Given the description of an element on the screen output the (x, y) to click on. 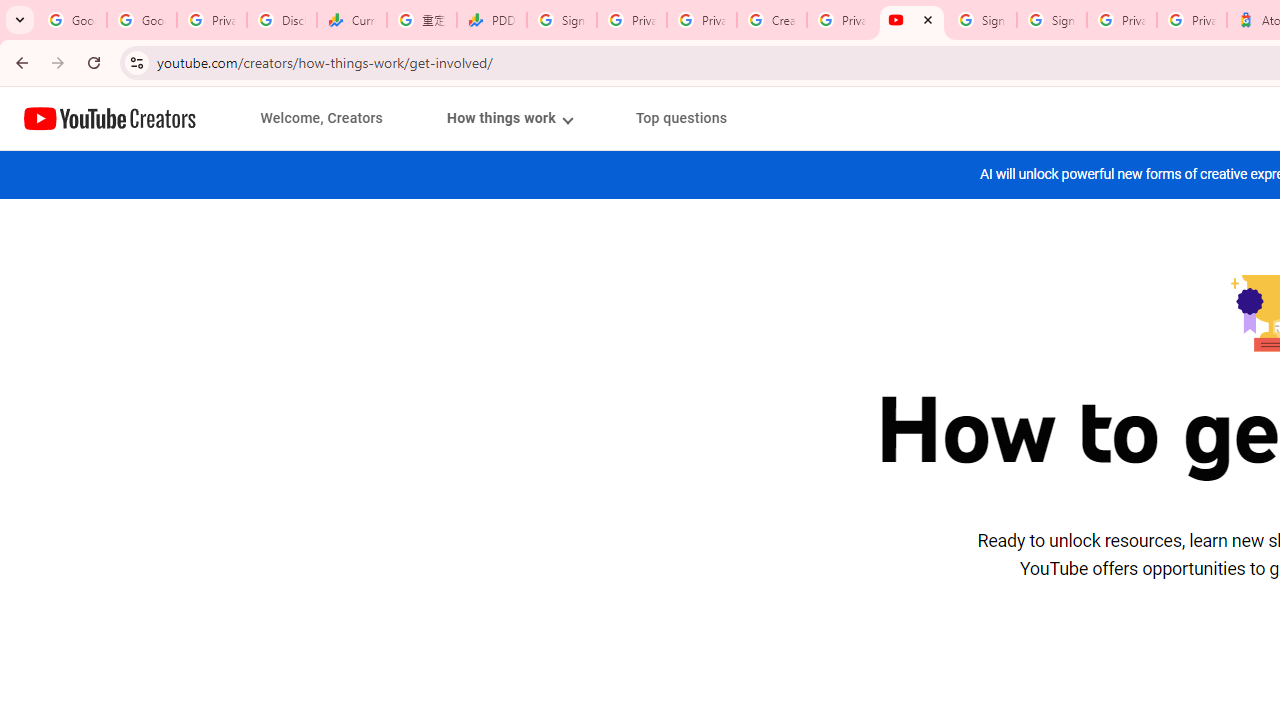
Home page (110, 118)
